Given the description of an element on the screen output the (x, y) to click on. 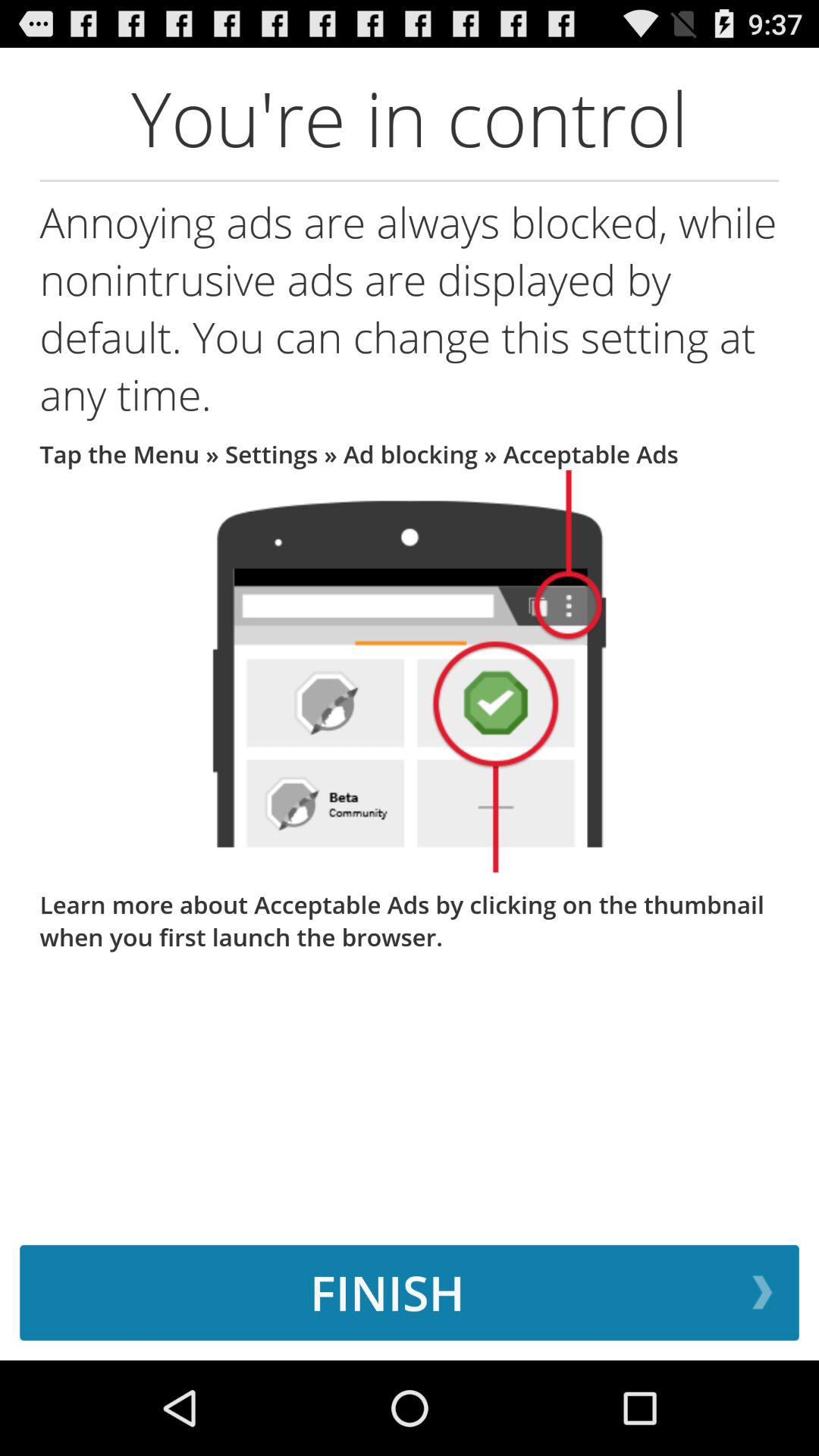
turn on icon below learn more about item (409, 1292)
